Given the description of an element on the screen output the (x, y) to click on. 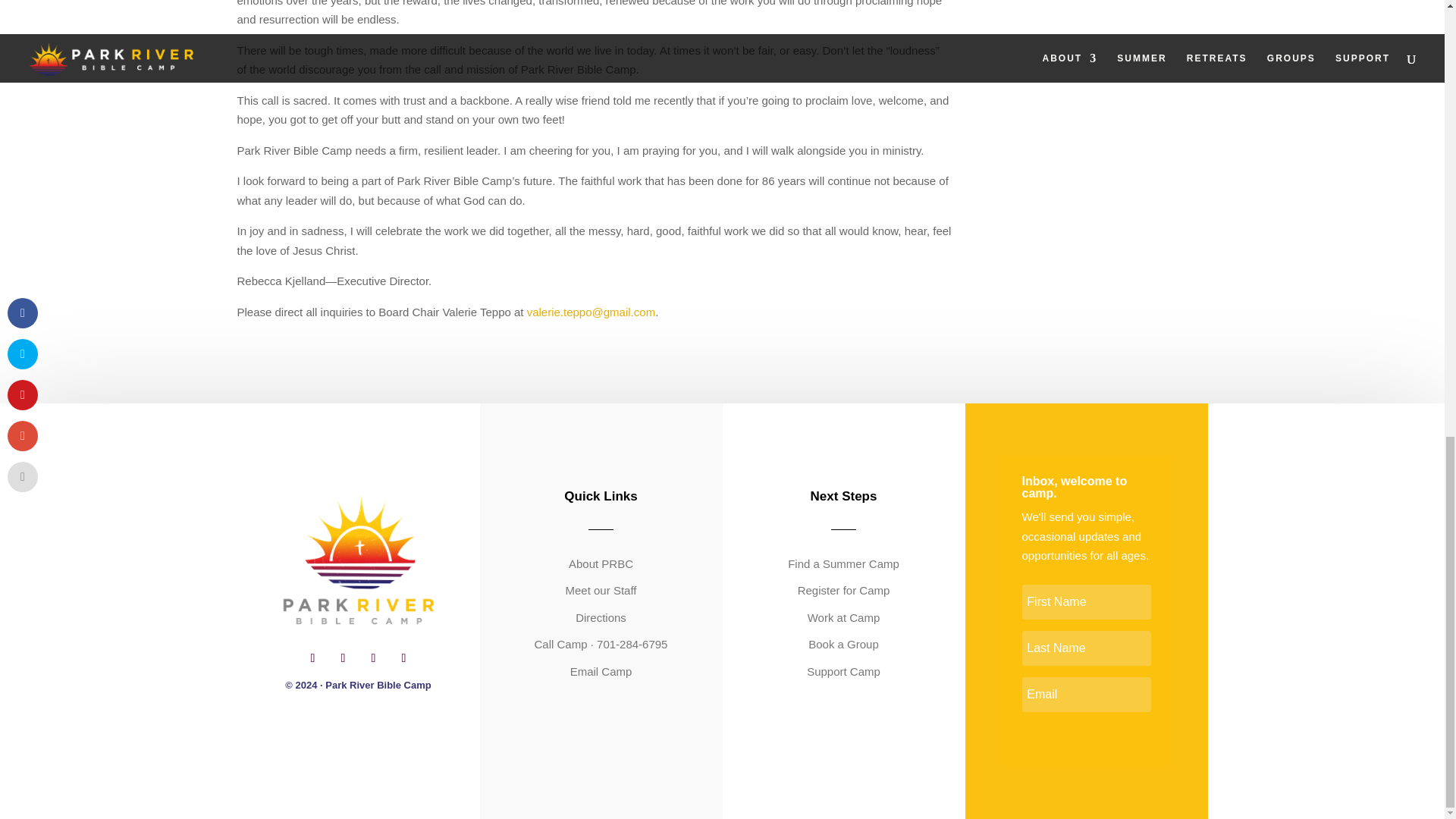
Follow on Youtube (402, 658)
Follow on Facebook (311, 658)
PRBC Final Square 4000x1000 (358, 562)
Follow on Instagram (342, 658)
SUBSCRIBE (1086, 734)
Follow on X (373, 658)
